Given the description of an element on the screen output the (x, y) to click on. 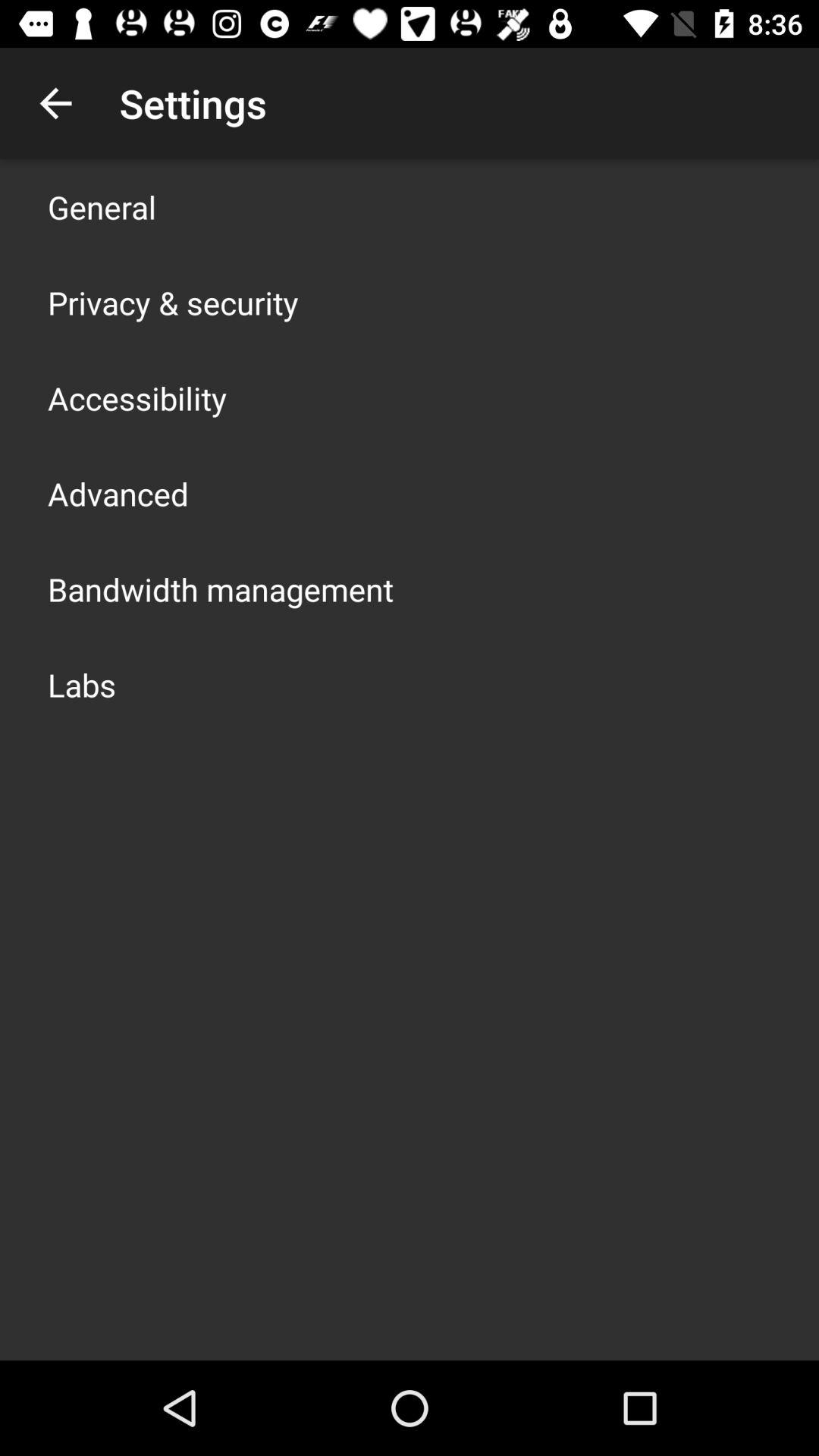
launch app below advanced (220, 588)
